Given the description of an element on the screen output the (x, y) to click on. 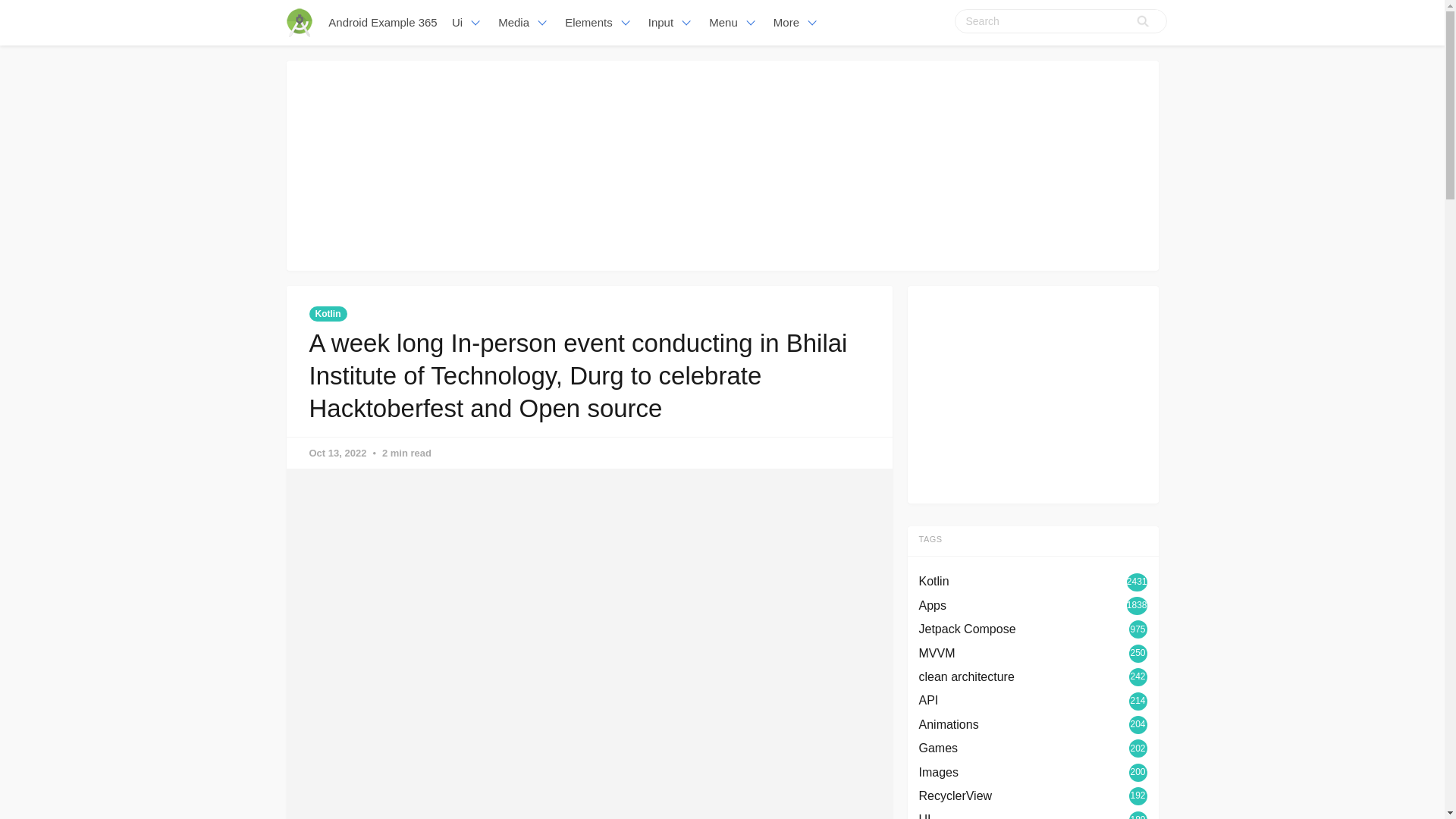
Android Example 365 (383, 22)
Advertisement (1032, 391)
Elements (599, 22)
Menu (734, 22)
Ui (467, 22)
Input (670, 22)
Media (524, 22)
